Given the description of an element on the screen output the (x, y) to click on. 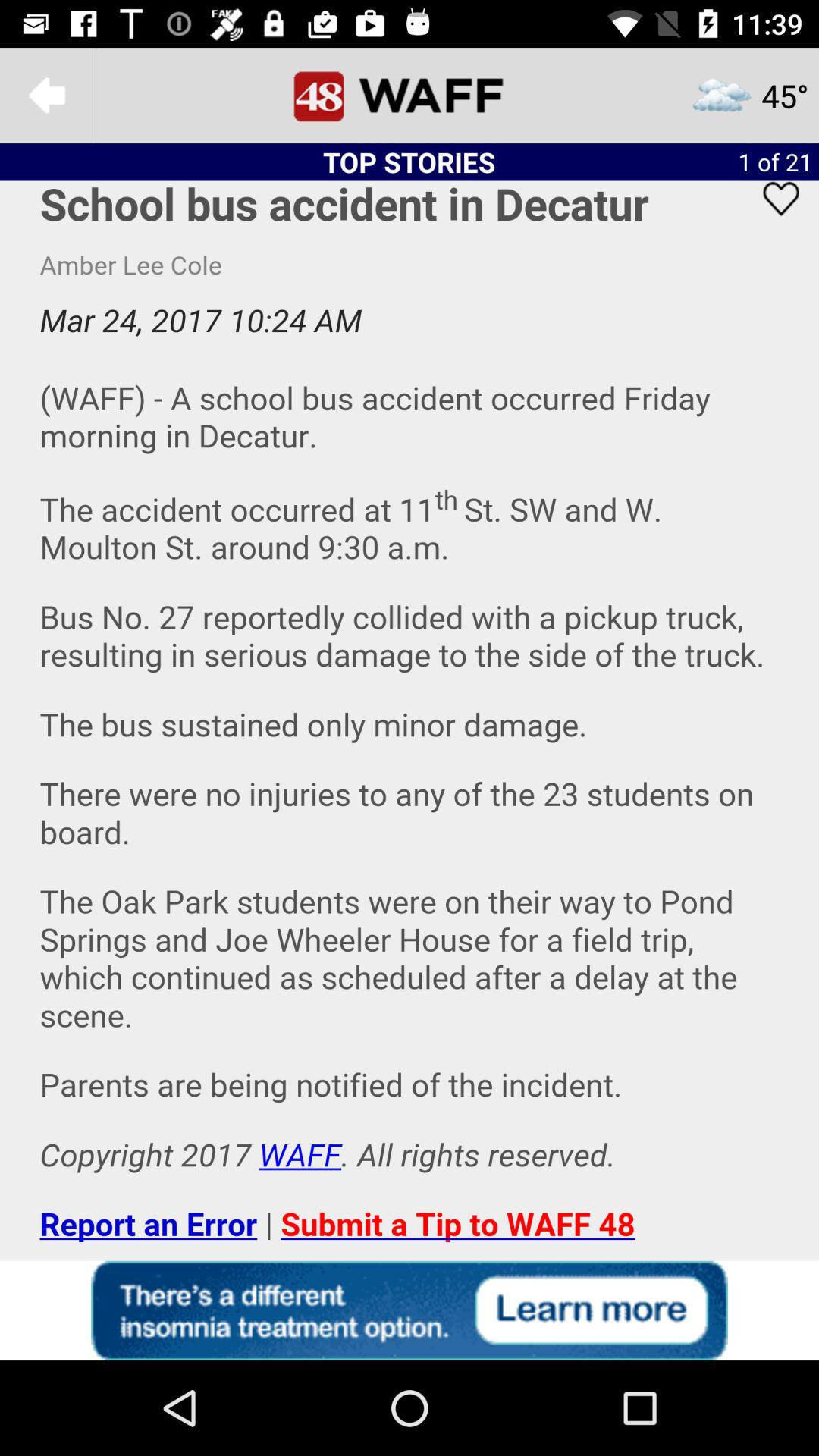
go to homepage (409, 95)
